Given the description of an element on the screen output the (x, y) to click on. 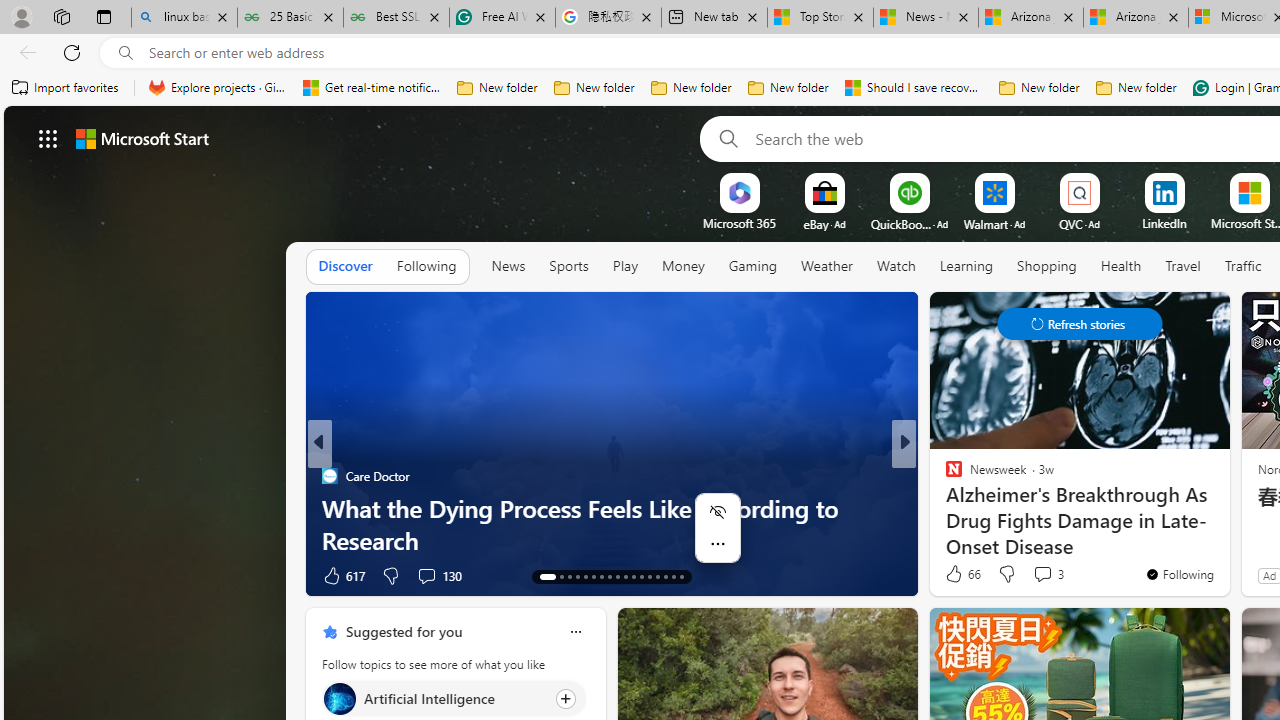
Search icon (125, 53)
95 Like (956, 574)
AutomationID: tab-26 (656, 576)
Food & Wine (944, 475)
You're following Newsweek (1179, 573)
More actions (717, 543)
AutomationID: tab-24 (641, 576)
Free AI Writing Assistance for Students | Grammarly (502, 17)
